Given the description of an element on the screen output the (x, y) to click on. 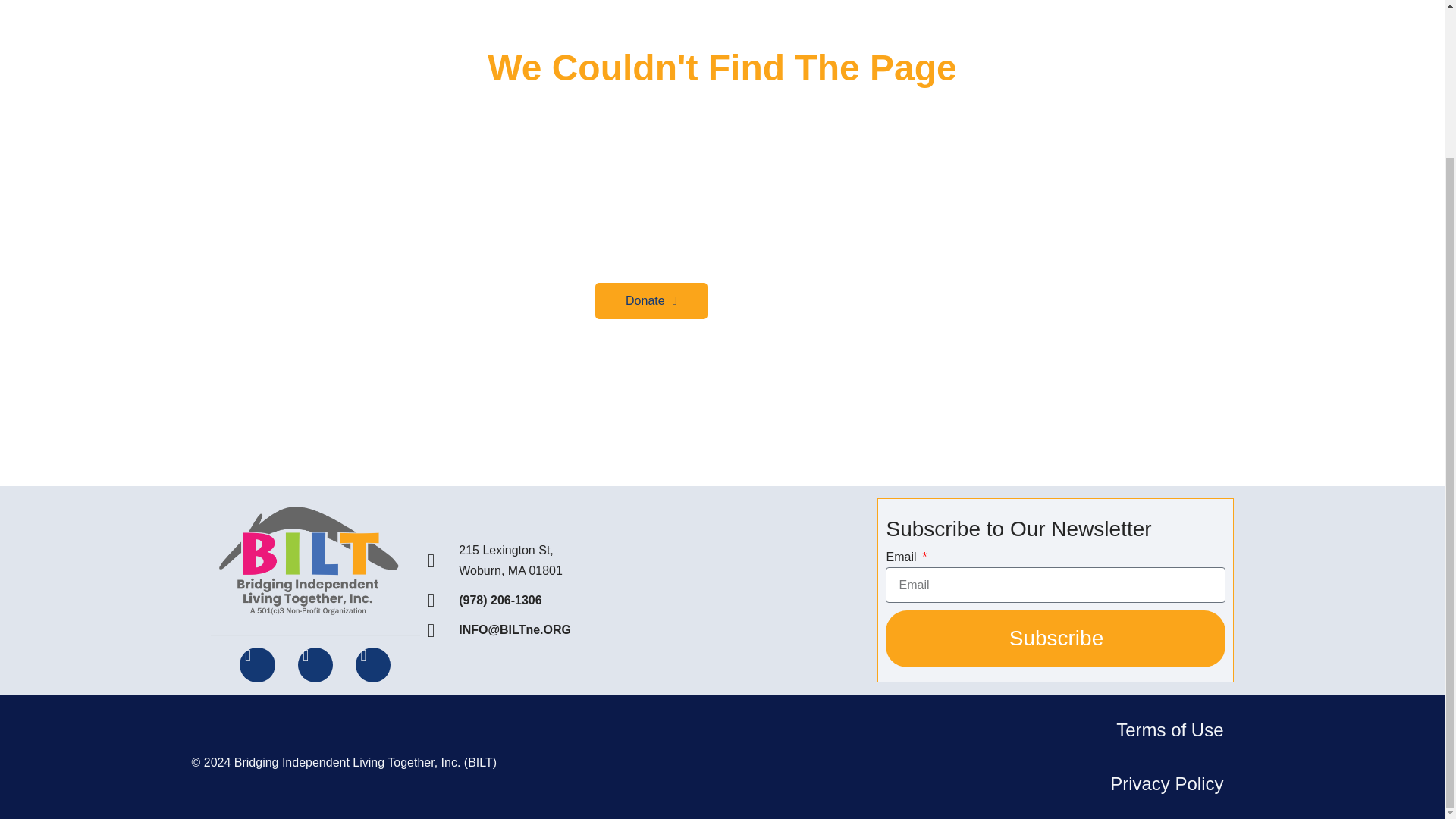
Privacy Policy (1165, 783)
Donate (650, 300)
Or Volunteer (774, 300)
Subscribe (1055, 638)
Terms of Use (1168, 729)
